Given the description of an element on the screen output the (x, y) to click on. 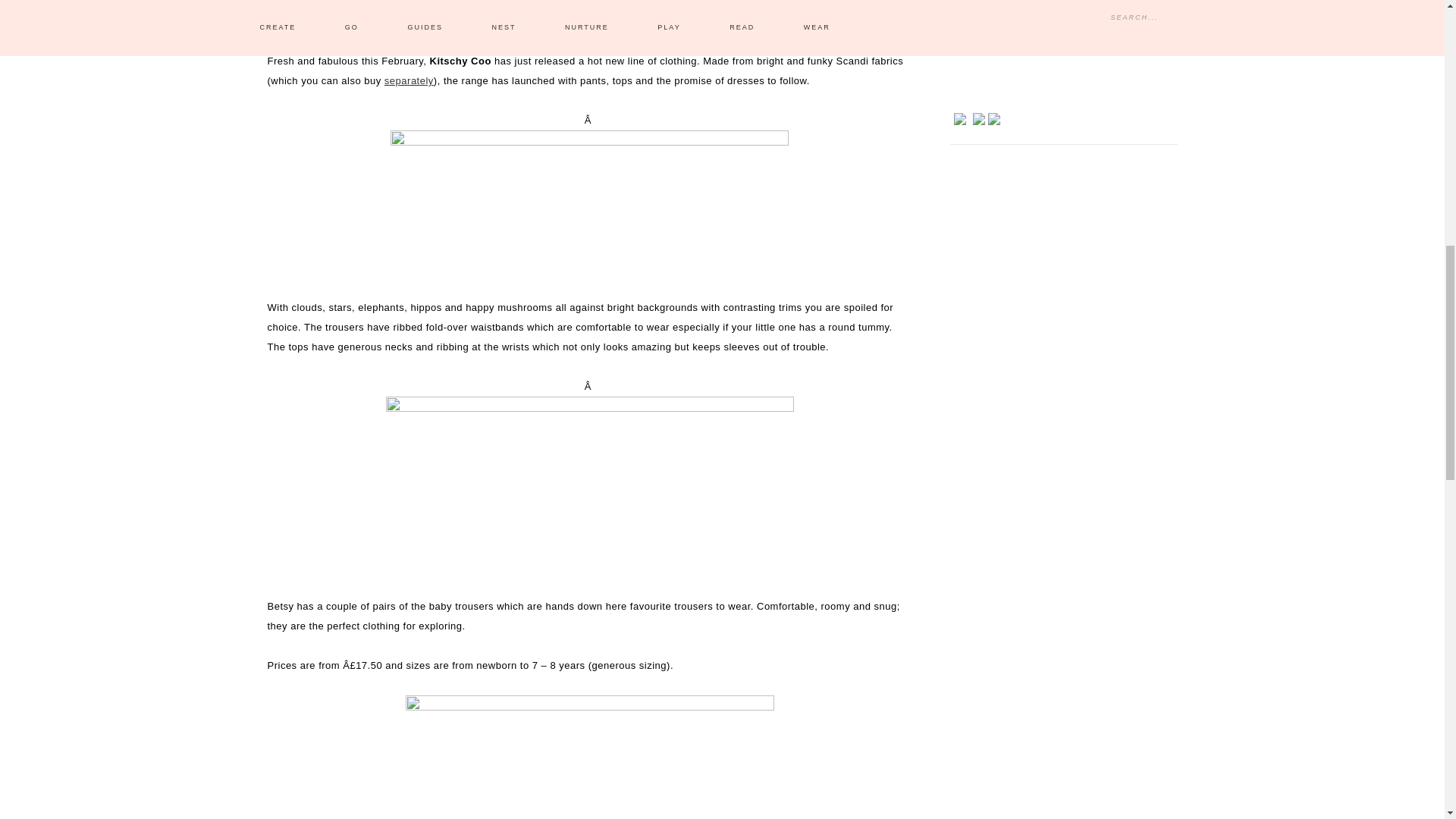
Kitschy Coo Clothing 1 (588, 757)
Kitschy Coo Clothing (589, 15)
Kitschy Coo Clothing (589, 204)
Fabric from Kitschy Coo (408, 80)
Kitschy Coo Clothing 2 (589, 486)
